Given the description of an element on the screen output the (x, y) to click on. 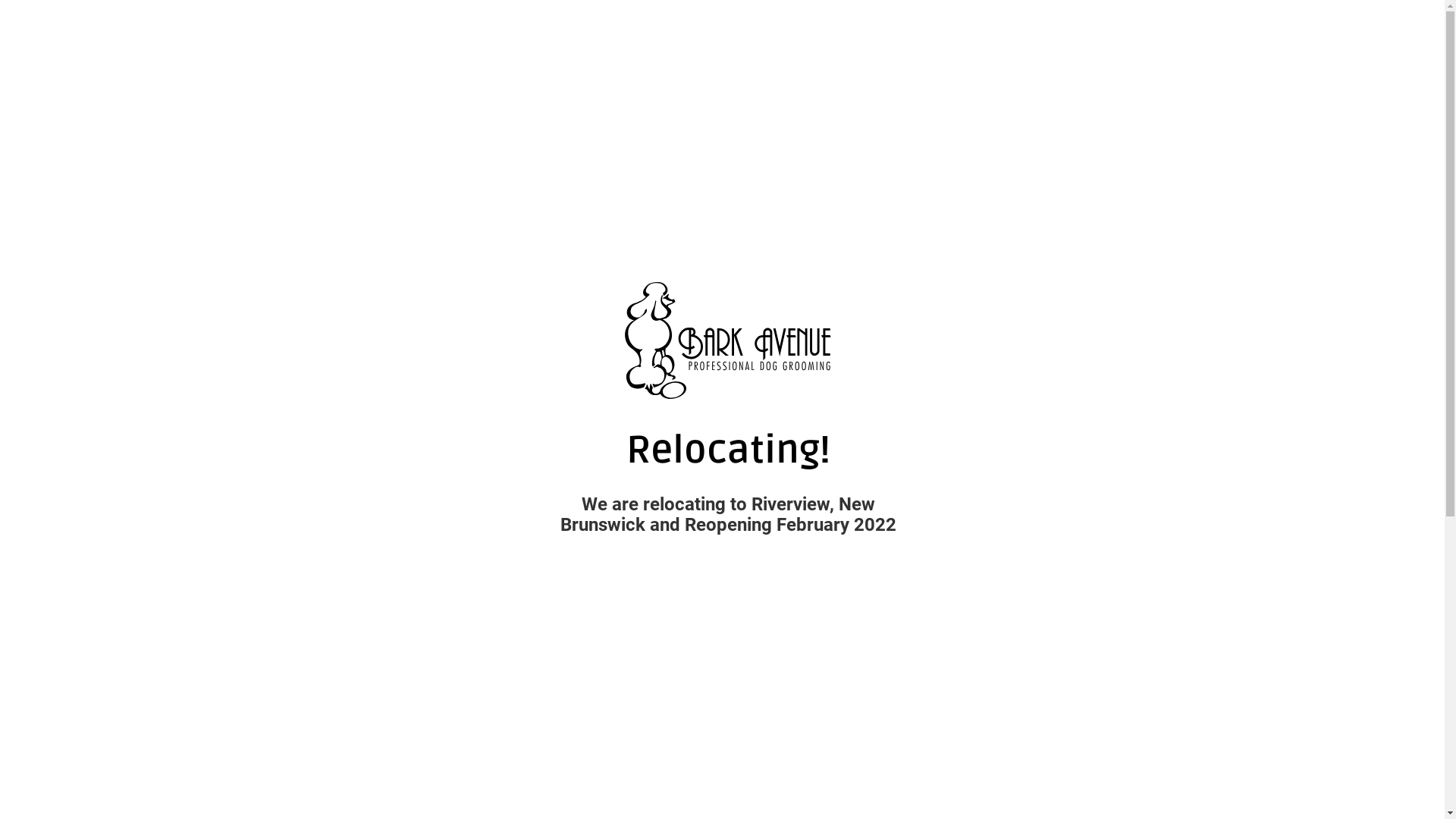
March 1, 2016 Element type: text (712, 414)
Book a Visit Element type: text (87, 50)
No Comments Element type: text (887, 414)
hello@benmoffett.com Element type: text (581, 414)
